Given the description of an element on the screen output the (x, y) to click on. 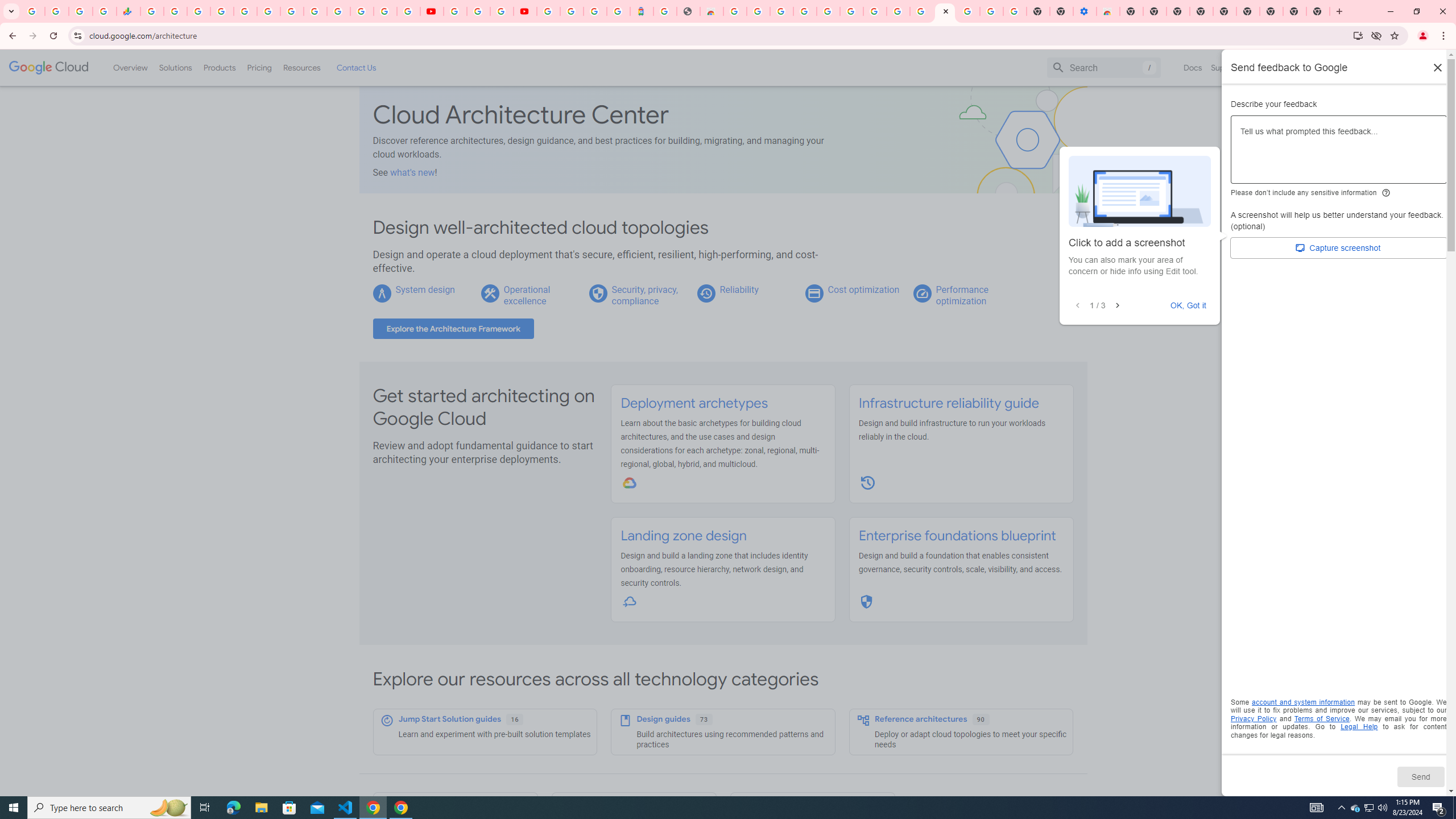
Resources (301, 67)
Contact Us (355, 67)
Google Account Help (478, 11)
what's new (412, 172)
Turn cookies on or off - Computer - Google Account Help (1015, 11)
Sign in - Google Accounts (827, 11)
